Given the description of an element on the screen output the (x, y) to click on. 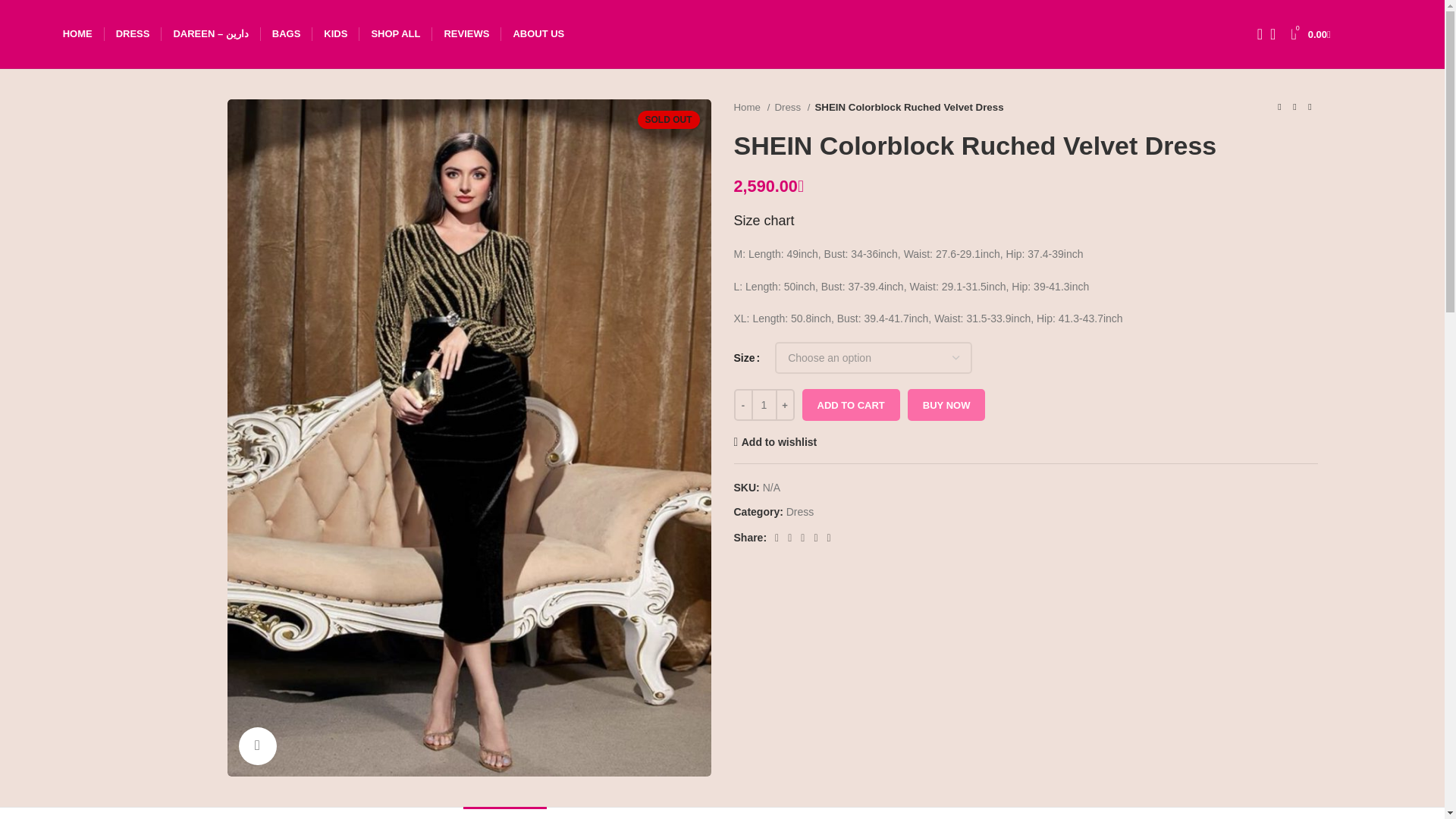
My account (1372, 33)
ADD TO CART (850, 404)
Add to wishlist (774, 441)
Dress (799, 511)
Shopping cart (1311, 33)
BAGS (286, 33)
DRESS (132, 33)
HOME (77, 33)
REVIEWS (466, 33)
Home (751, 107)
